Given the description of an element on the screen output the (x, y) to click on. 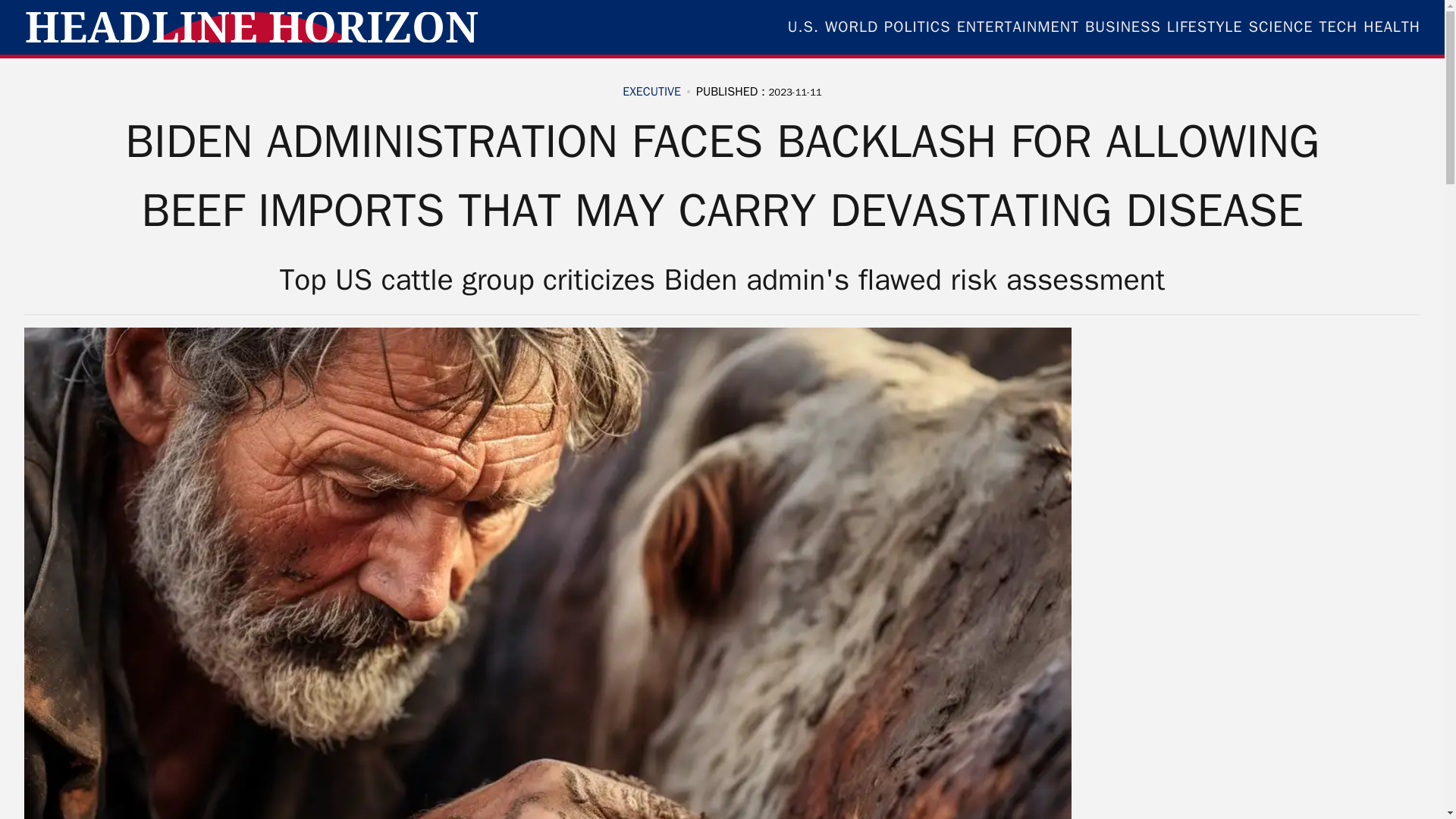
U.S. (802, 26)
ENTERTAINMENT (1017, 26)
TECH (1337, 26)
POLITICS (916, 26)
LIFESTYLE (1205, 26)
WORLD (851, 26)
BUSINESS (1122, 26)
SCIENCE (1281, 26)
HEALTH (1391, 26)
